Given the description of an element on the screen output the (x, y) to click on. 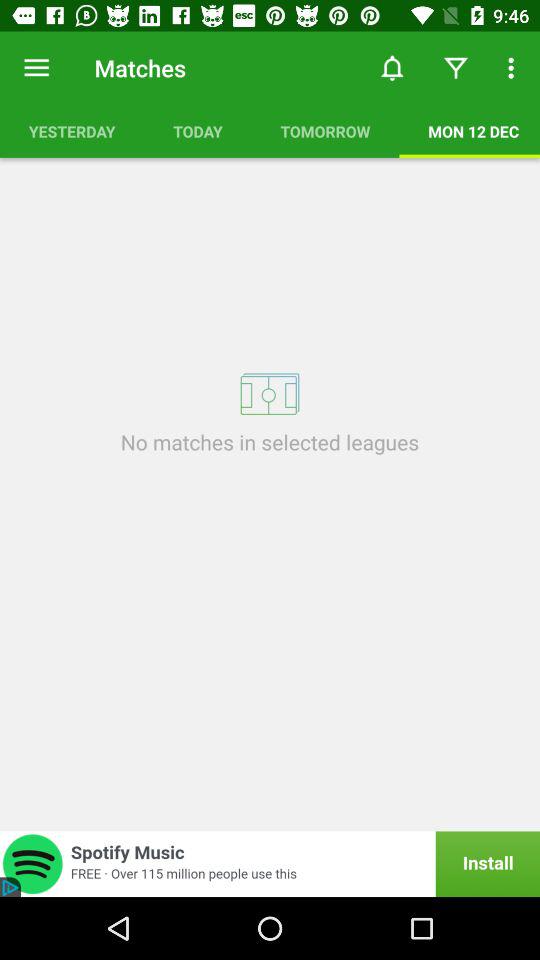
open item to the right of the tomorrow (469, 131)
